Given the description of an element on the screen output the (x, y) to click on. 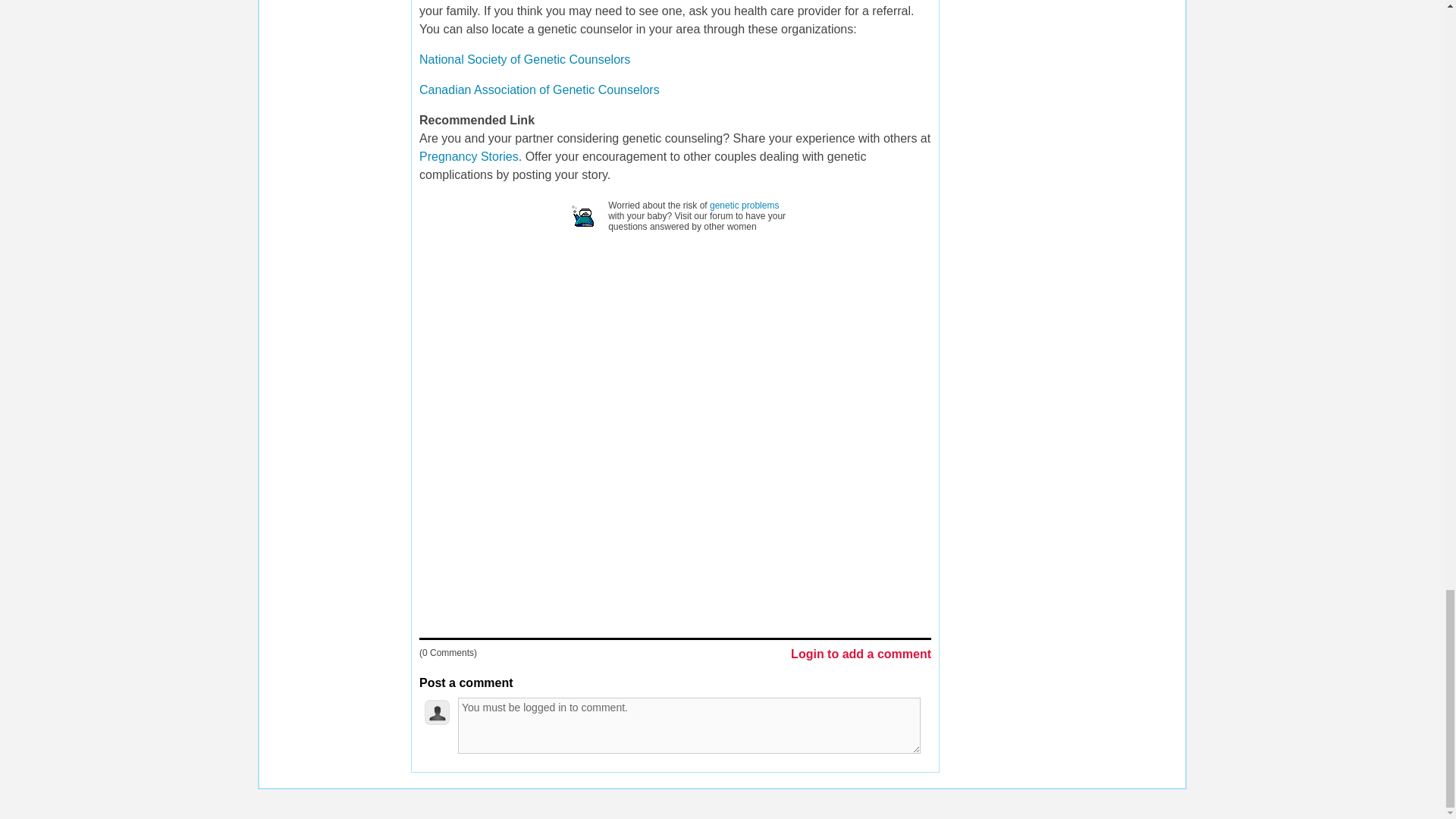
LOG IN (600, 802)
Pregnancy Stories (468, 155)
Login to add a comment (860, 655)
genetic problems (744, 204)
National Society of Genetic Counselors (524, 59)
Canadian Association of Genetic Counselors (539, 89)
